Given the description of an element on the screen output the (x, y) to click on. 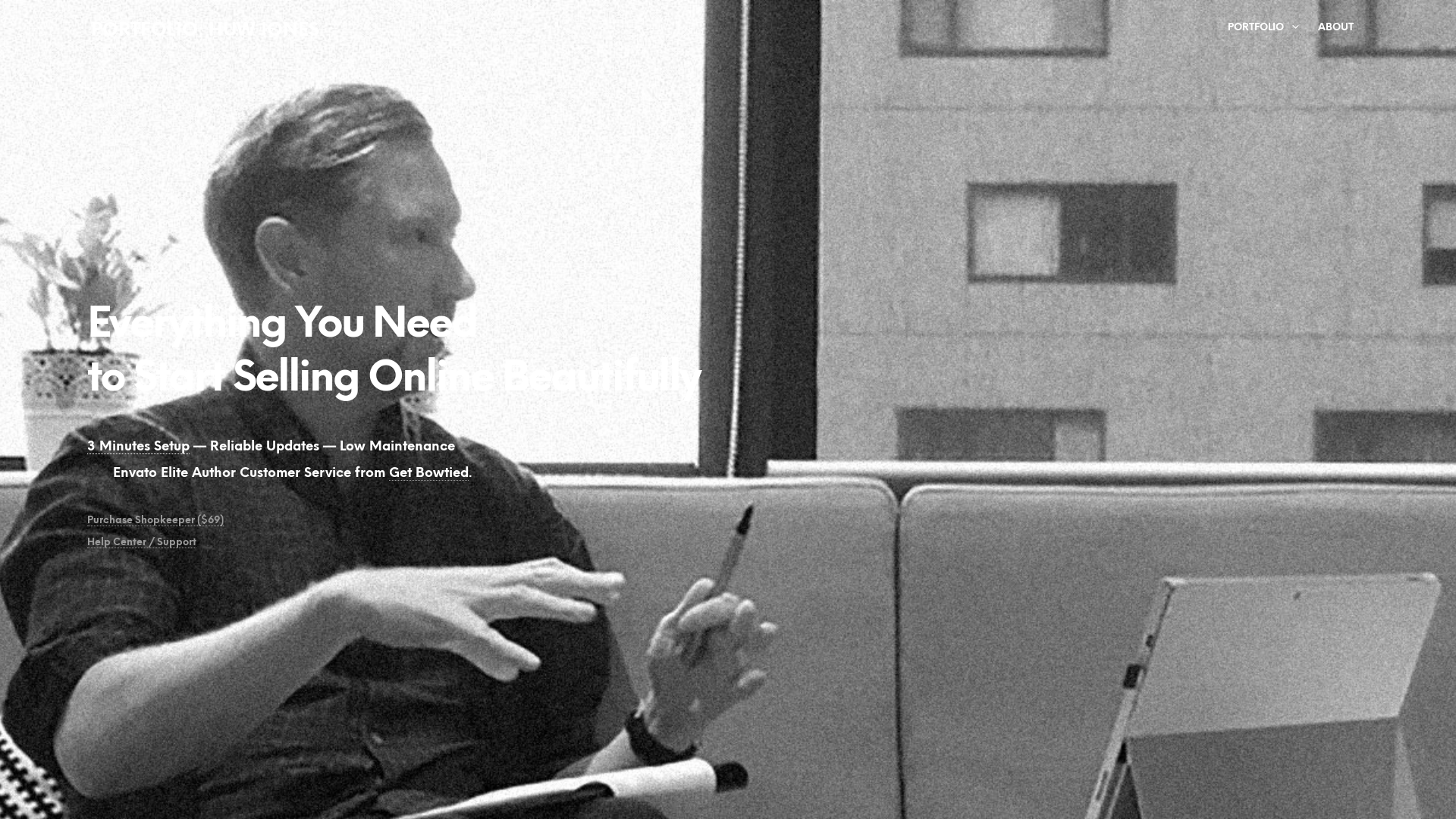
Get Bowtied Element type: text (428, 473)
PORTFOLIO: HUW JONES Element type: text (205, 30)
3 Minutes Setup Element type: text (138, 446)
ABOUT Element type: text (1335, 27)
Help Center / Support Element type: text (141, 542)
PORTFOLIO Element type: text (1255, 27)
Purchase Shopkeeper ($69) Element type: text (155, 520)
